Given the description of an element on the screen output the (x, y) to click on. 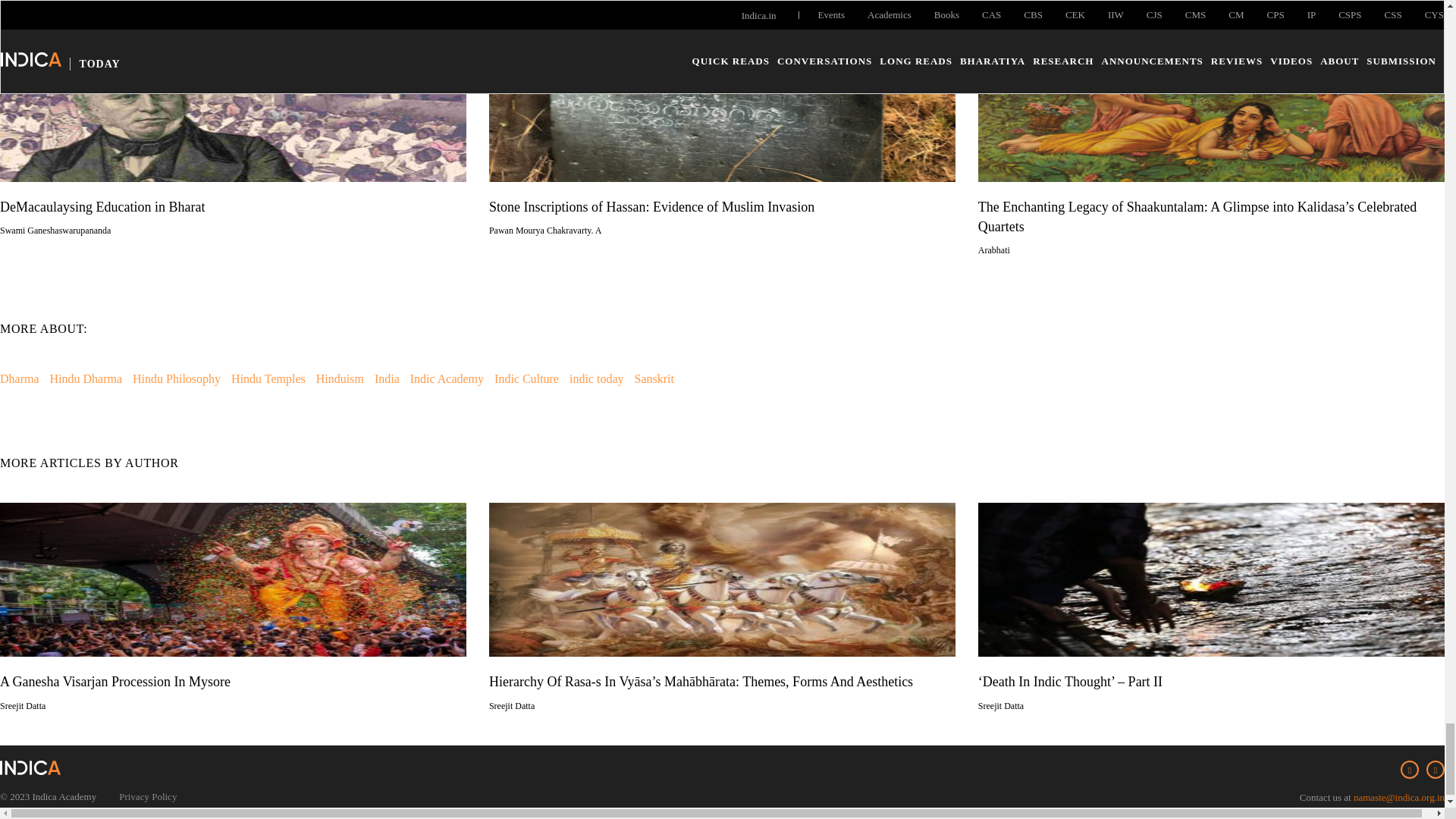
Hindu Philosophy (176, 378)
India (386, 378)
Hindu Temples (268, 378)
indic today (596, 378)
Hinduism (339, 378)
Indic Culture (527, 378)
Dharma (19, 378)
Hindu Dharma (85, 378)
Sanskrit (652, 378)
Indic Academy (446, 378)
